Given the description of an element on the screen output the (x, y) to click on. 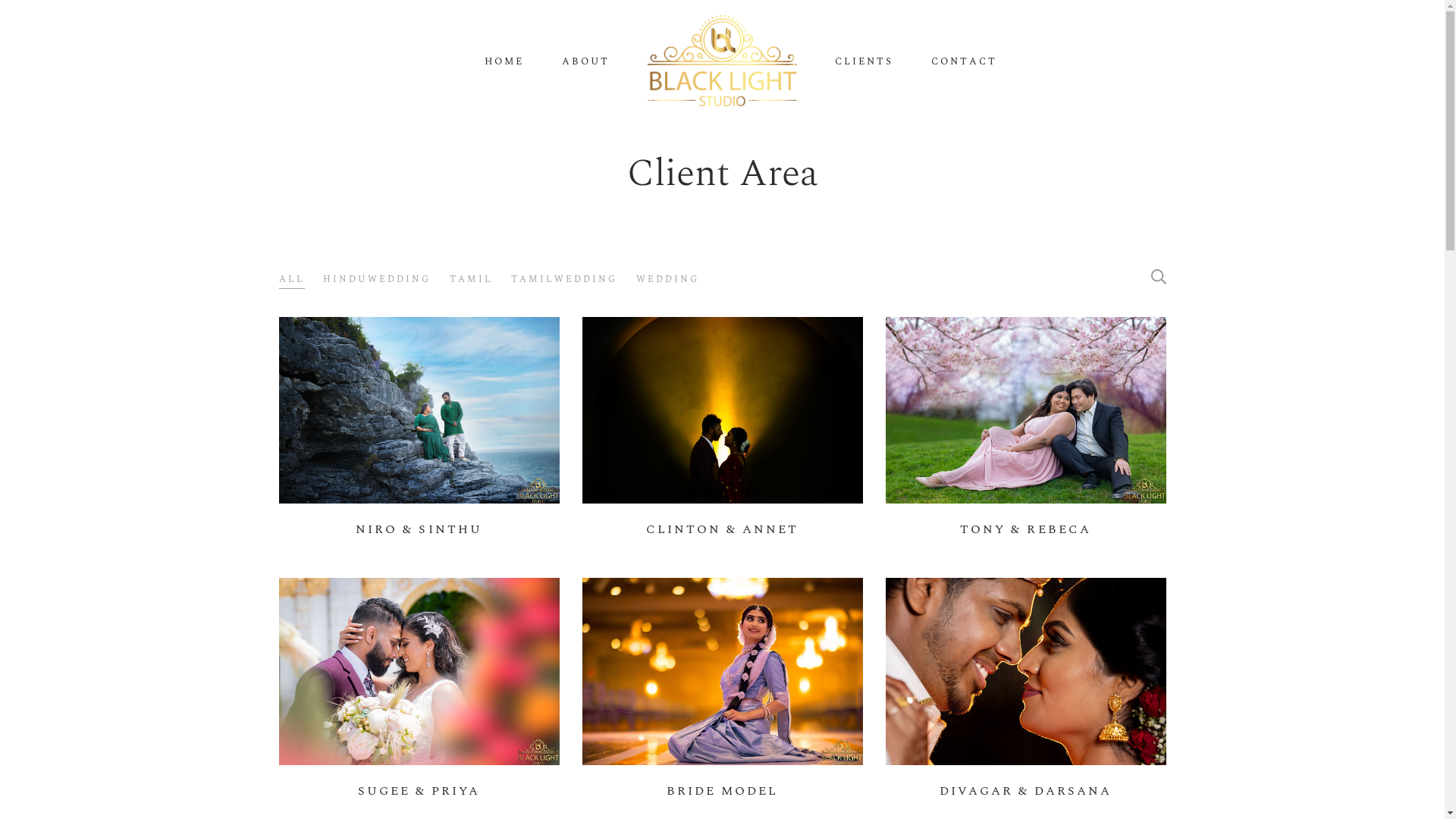
HINDUWEDDING Element type: text (376, 280)
TAMIL Element type: text (470, 280)
TONY & REBECA Element type: text (1025, 435)
HOME Element type: text (503, 61)
NIRO & SINTHU Element type: text (419, 435)
TAMILWEDDING Element type: text (564, 280)
BRIDE MODEL Element type: text (722, 696)
CLINTON & ANNET Element type: text (722, 435)
DIVAGAR & DARSANA Element type: text (1025, 696)
CLIENTS Element type: text (863, 61)
CONTACT Element type: text (964, 61)
ALL Element type: text (291, 280)
WEDDING Element type: text (667, 280)
ABOUT Element type: text (585, 61)
SUGEE & PRIYA Element type: text (419, 696)
